Given the description of an element on the screen output the (x, y) to click on. 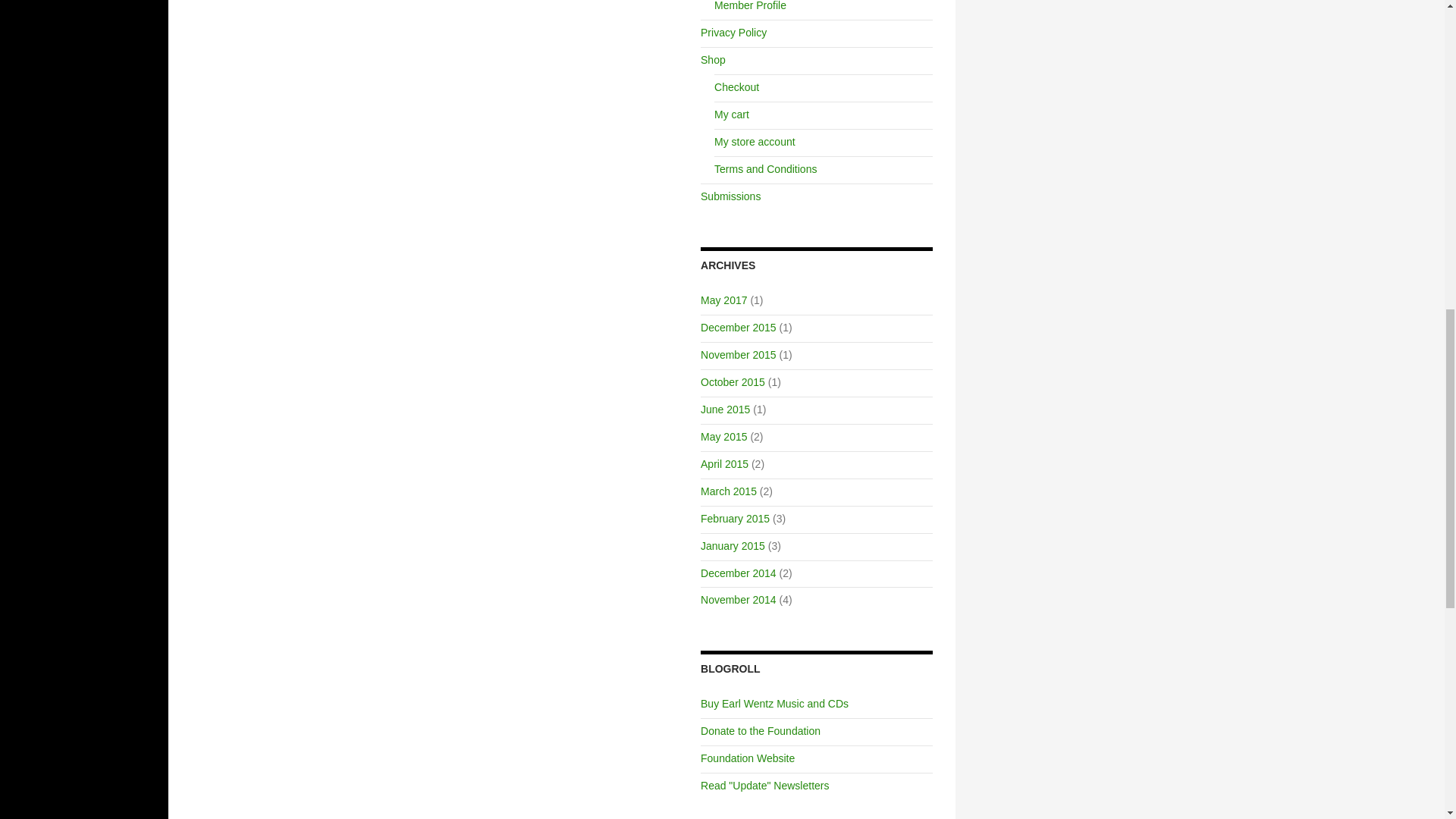
October 2015 (732, 381)
April 2015 (724, 463)
Submissions (730, 196)
Shop Here and Support the Foundation (774, 703)
Privacy Policy (733, 32)
My cart (731, 114)
Check out our quarterly newsletters (764, 785)
Shop (712, 60)
May 2015 (723, 436)
June 2015 (724, 409)
Terms and Conditions (765, 168)
Member Profile (750, 5)
November 2015 (738, 354)
Checkout (736, 87)
December 2015 (738, 327)
